Given the description of an element on the screen output the (x, y) to click on. 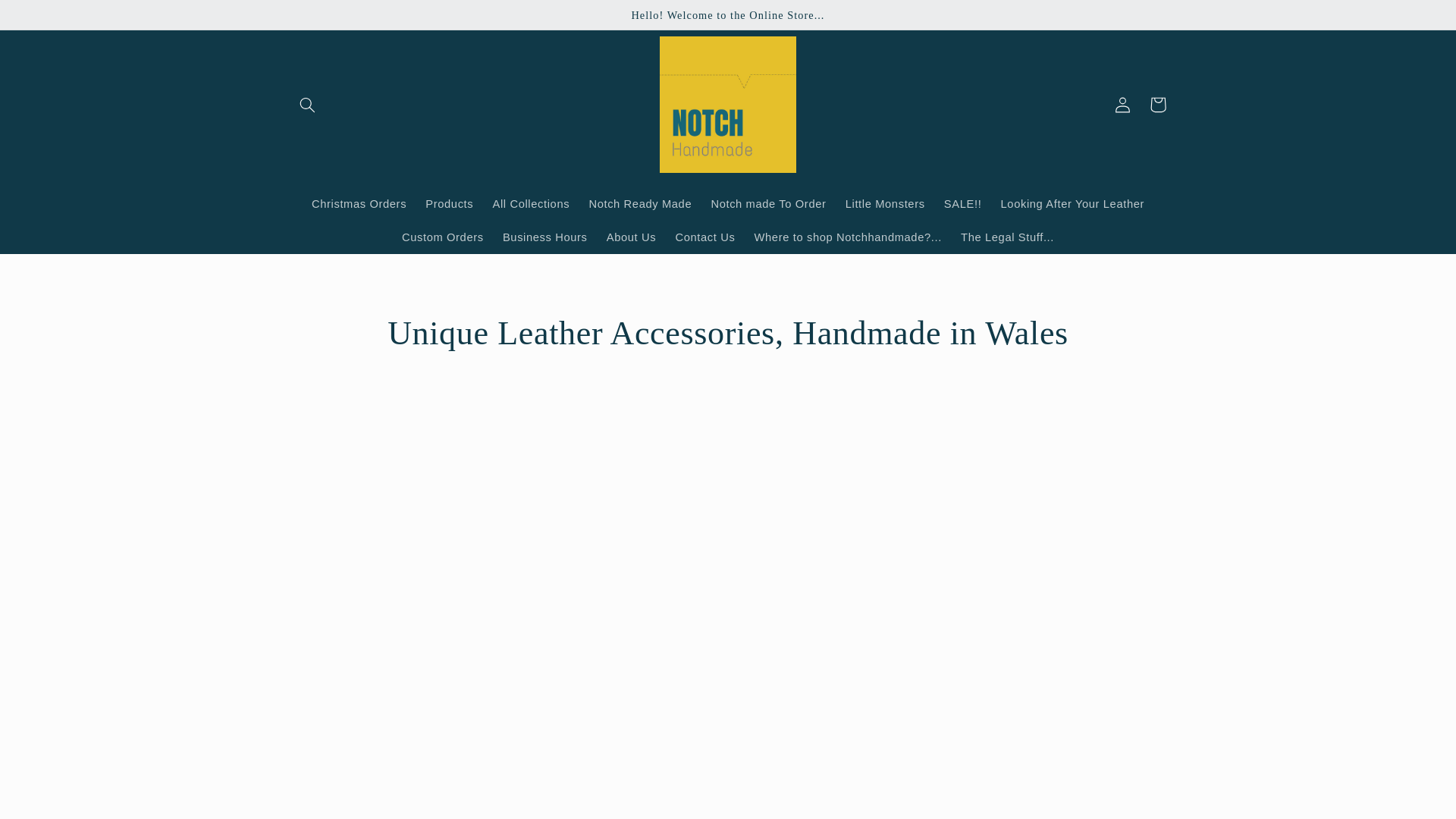
The Legal Stuff... (1006, 236)
Little Monsters (884, 203)
SALE!! (962, 203)
Business Hours (544, 236)
Notch made To Order (768, 203)
Cart (1157, 104)
Skip to content (48, 18)
Products (449, 203)
Custom Orders (442, 236)
Notch Ready Made (640, 203)
